Given the description of an element on the screen output the (x, y) to click on. 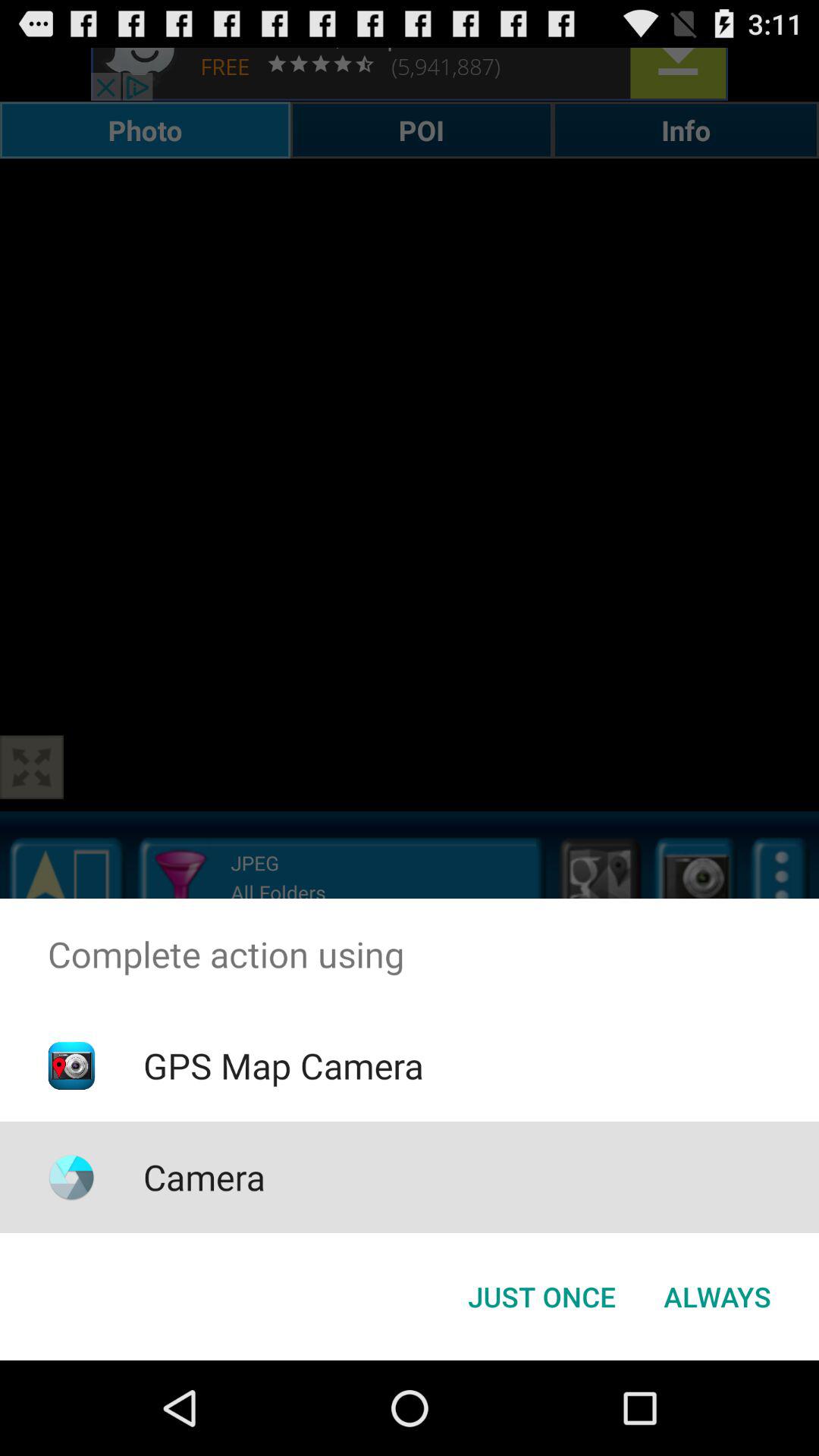
press the icon next to just once icon (717, 1296)
